Given the description of an element on the screen output the (x, y) to click on. 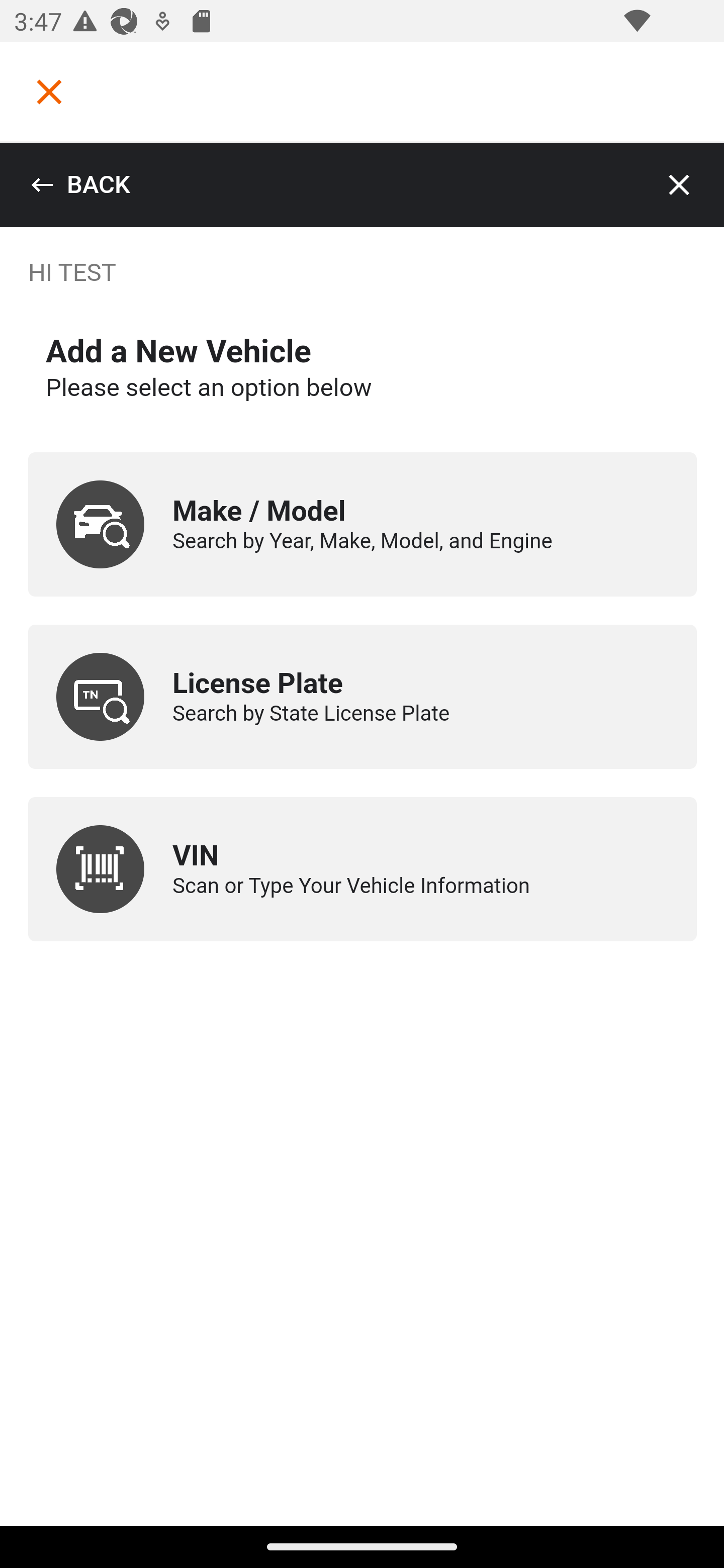
 (49, 91)
BACK (79, 184)
Close (679, 184)
License Plate Search by State License Plate (363, 696)
VIN Scan or Type Your Vehicle Information (363, 869)
